Given the description of an element on the screen output the (x, y) to click on. 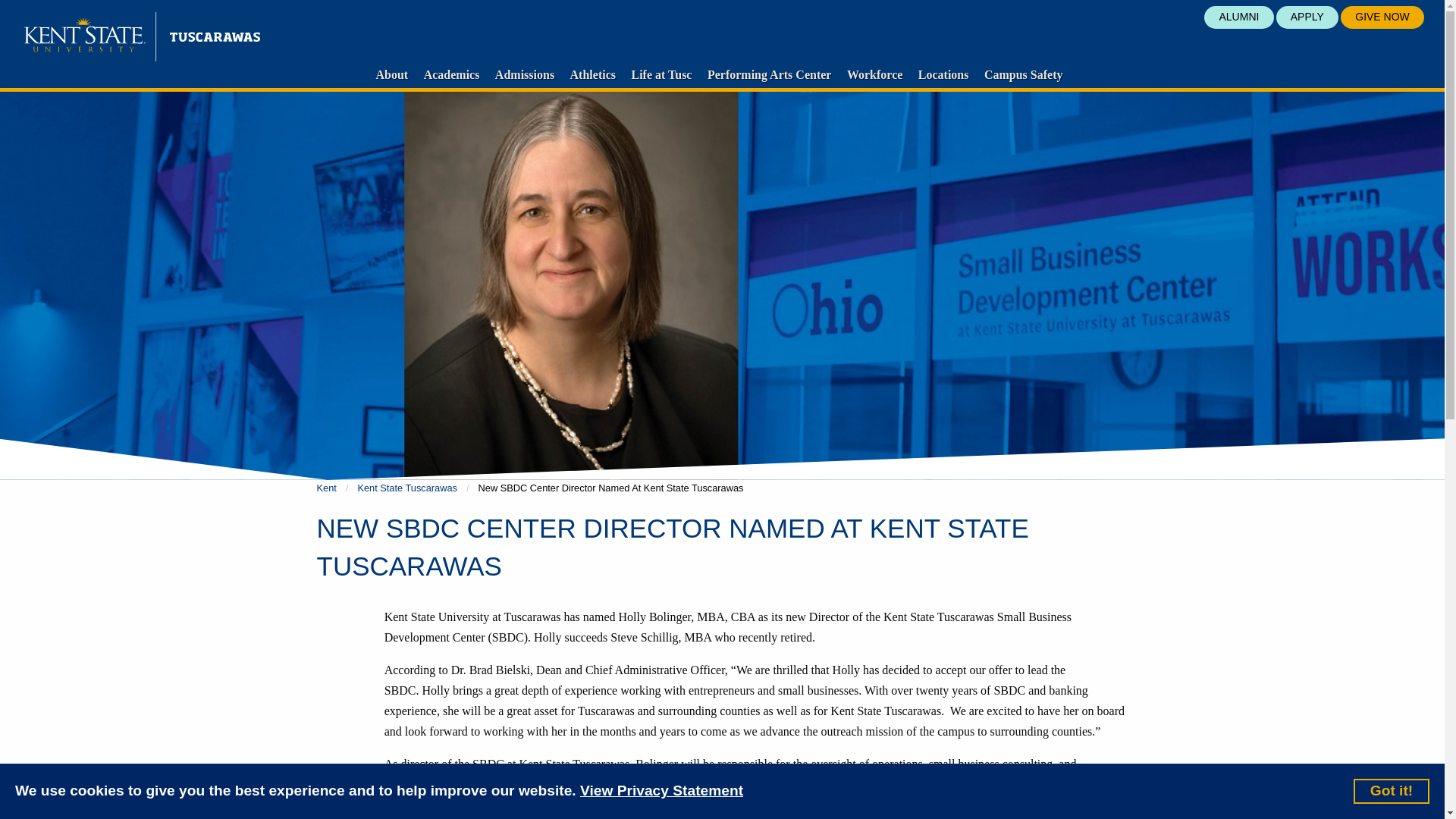
GIVE NOW (1381, 16)
View Privacy Statement (660, 791)
About (391, 74)
Kent State University logo (142, 36)
APPLY (1307, 16)
Got it! (1391, 789)
ALUMNI (1238, 16)
